Given the description of an element on the screen output the (x, y) to click on. 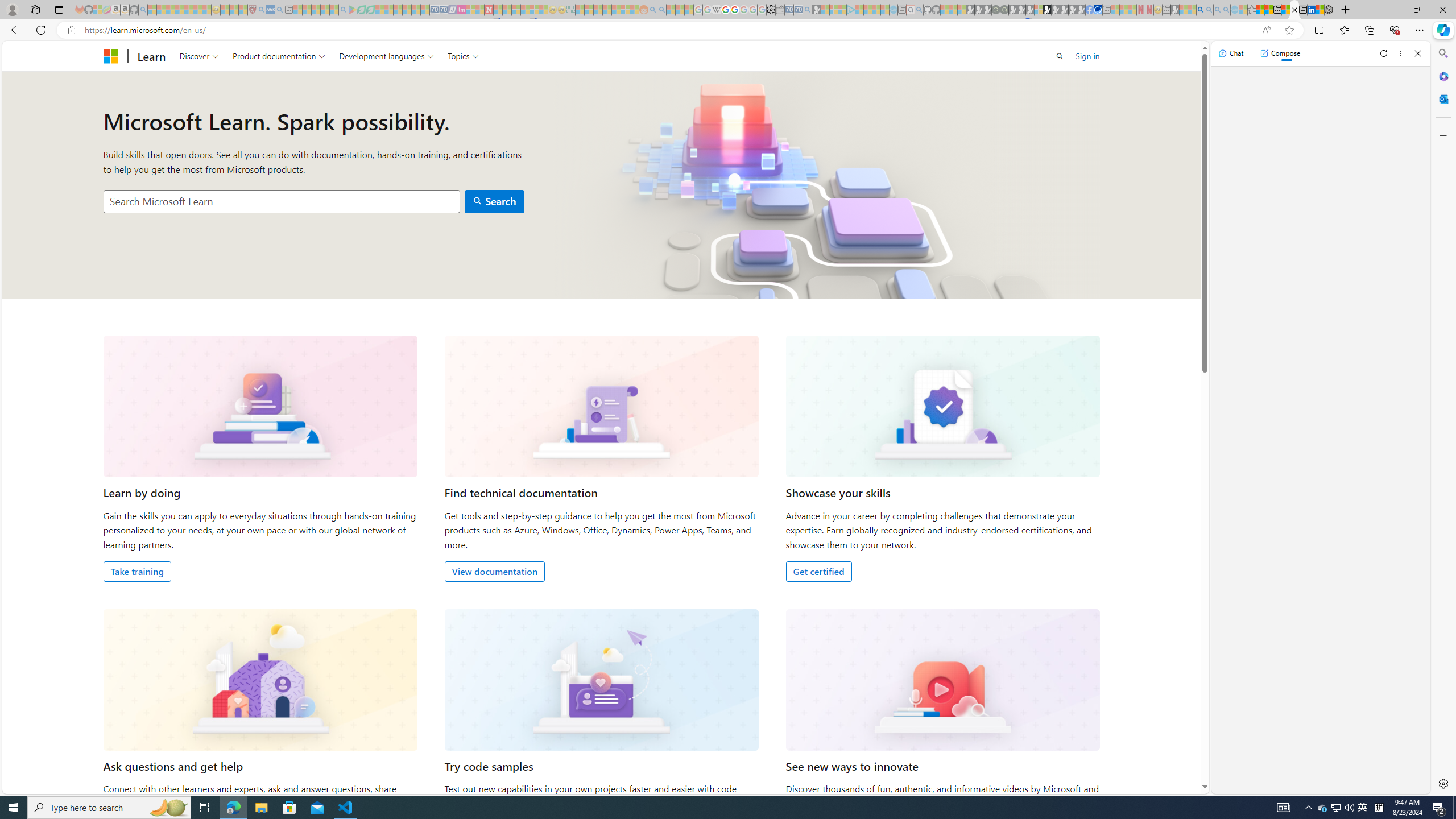
Topics (462, 55)
